Given the description of an element on the screen output the (x, y) to click on. 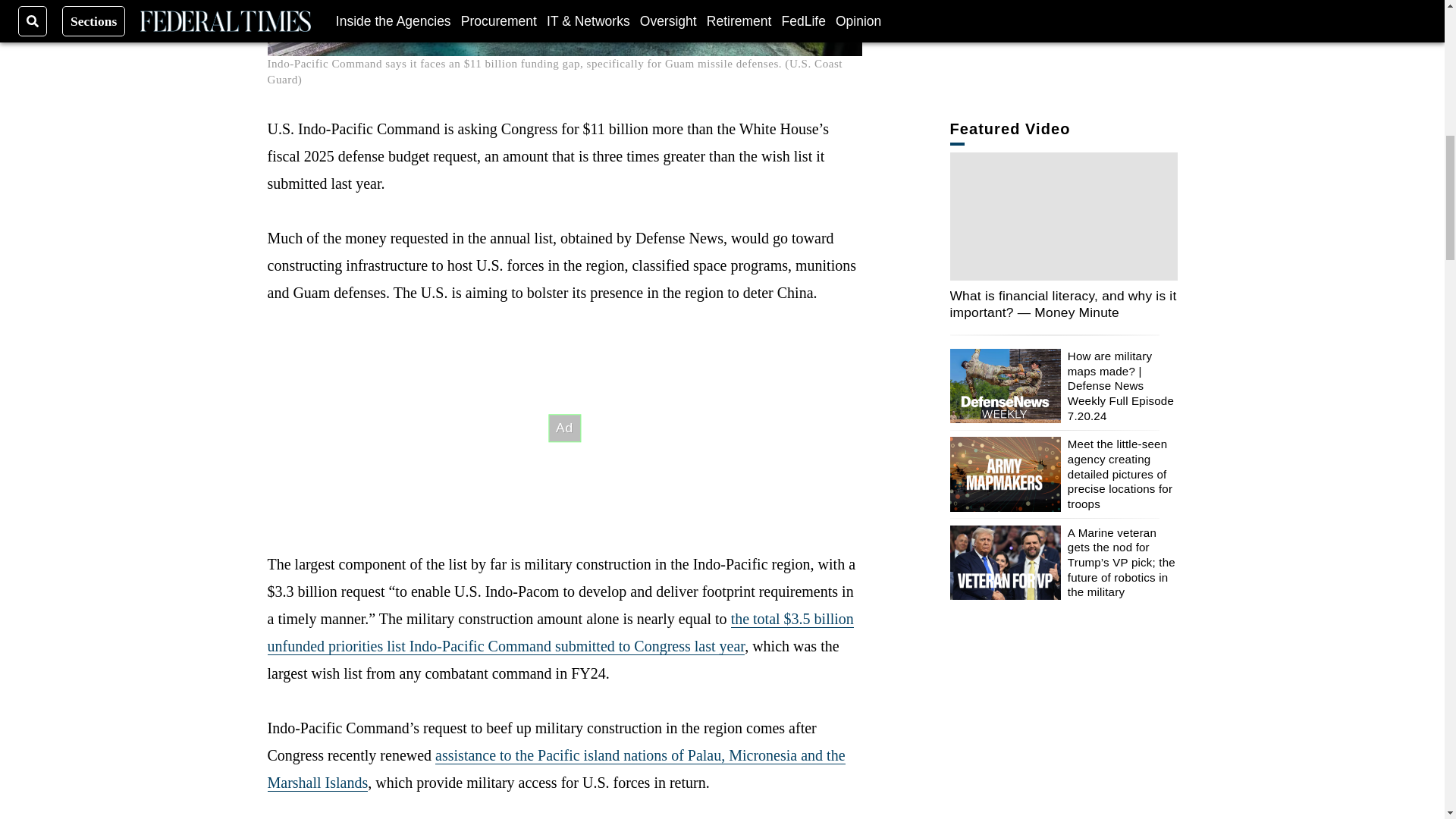
3rd party ad content (563, 428)
